Given the description of an element on the screen output the (x, y) to click on. 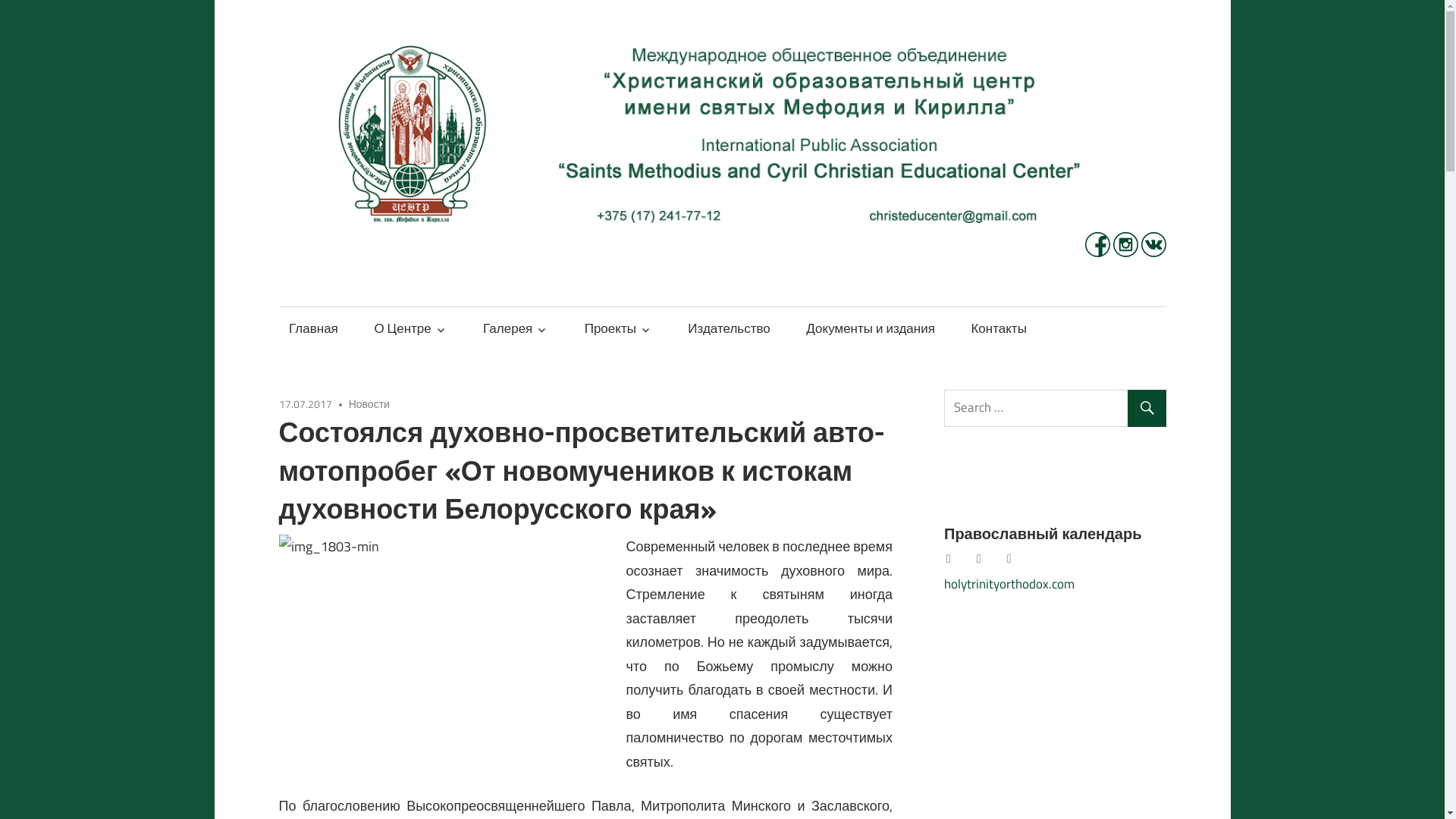
Search for: Element type: hover (1057, 407)
Skip to content Element type: text (279, 0)
holytrinityorthodox.com Element type: text (1009, 583)
Follow me VK Element type: hover (1152, 252)
17.07.2017 Element type: text (305, 403)
Follow me Facebook Element type: hover (1098, 252)
Follow me Instagram Element type: hover (1127, 252)
